Given the description of an element on the screen output the (x, y) to click on. 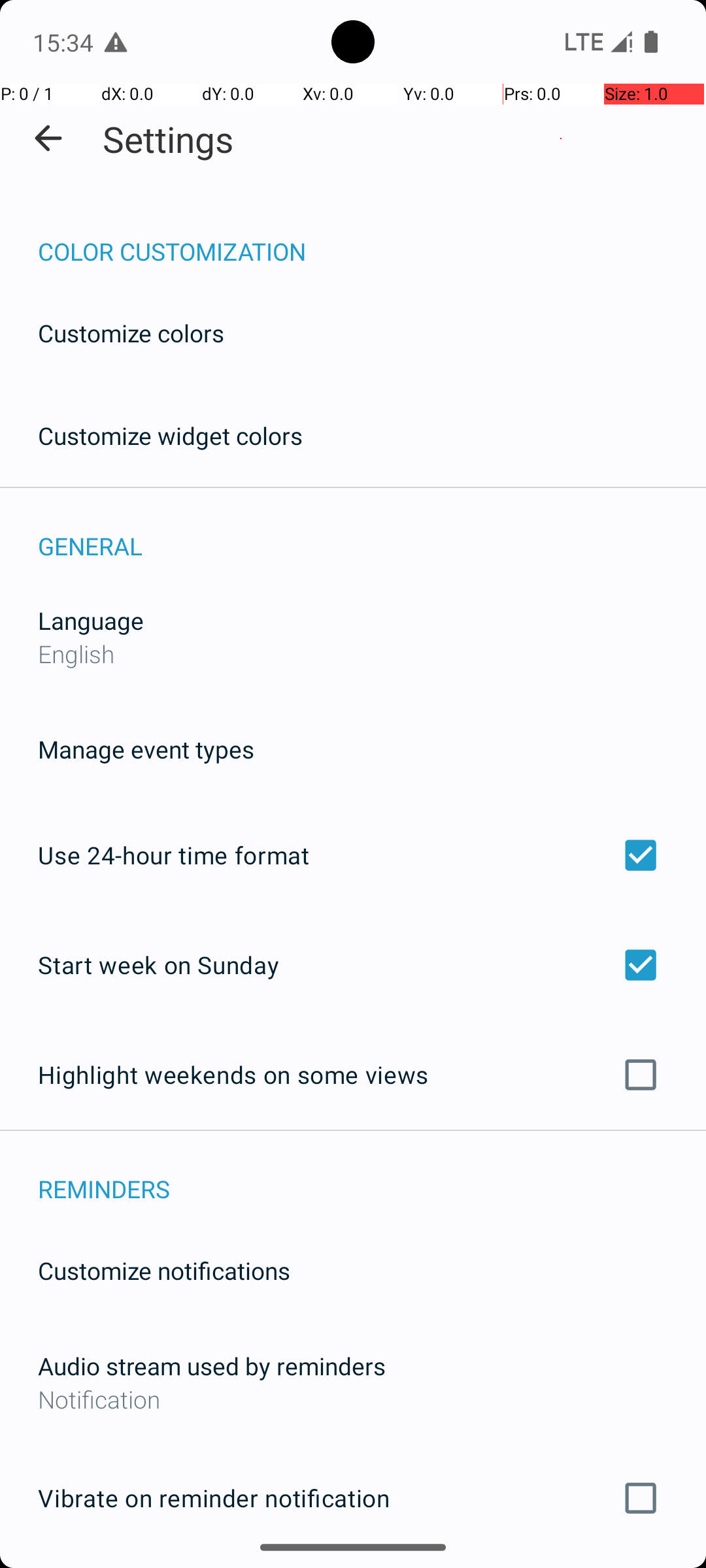
COLOR CUSTOMIZATION Element type: android.widget.TextView (371, 237)
REMINDERS Element type: android.widget.TextView (371, 1174)
Customize colors Element type: android.widget.TextView (130, 332)
Customize widget colors Element type: android.widget.TextView (170, 435)
English Element type: android.widget.TextView (75, 653)
Manage event types Element type: android.widget.TextView (145, 748)
Use 24-hour time format Element type: android.widget.CheckBox (352, 855)
Start week on Sunday Element type: android.widget.CheckBox (352, 964)
Highlight weekends on some views Element type: android.widget.CheckBox (352, 1074)
Customize notifications Element type: android.widget.TextView (163, 1270)
Audio stream used by reminders Element type: android.widget.TextView (211, 1365)
Notification Element type: android.widget.TextView (352, 1398)
Vibrate on reminder notification Element type: android.widget.CheckBox (352, 1497)
Loop reminders until dismissed Element type: android.widget.CheckBox (352, 1567)
